Given the description of an element on the screen output the (x, y) to click on. 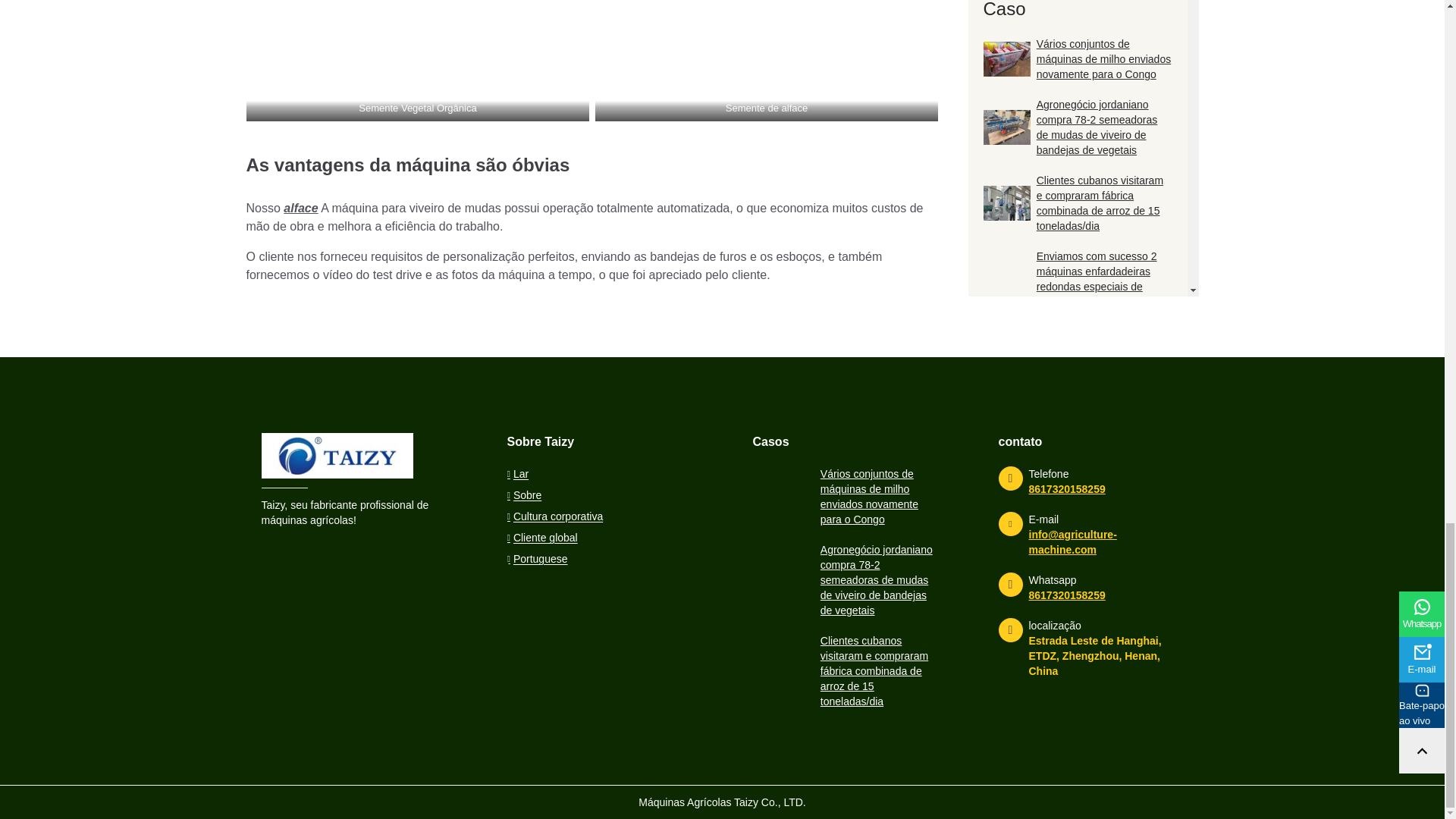
alface (300, 207)
